Given the description of an element on the screen output the (x, y) to click on. 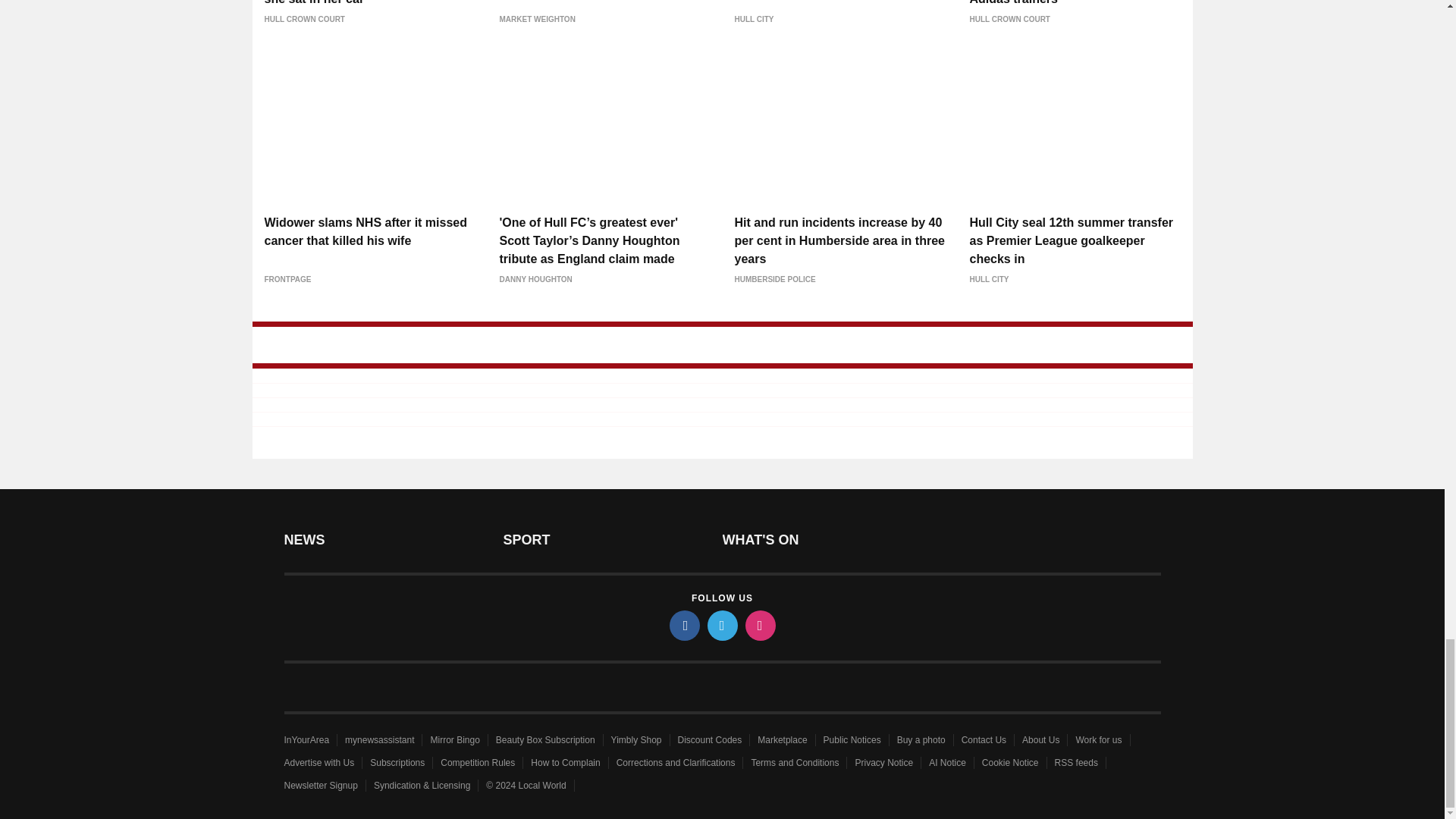
twitter (721, 625)
instagram (759, 625)
facebook (683, 625)
